Given the description of an element on the screen output the (x, y) to click on. 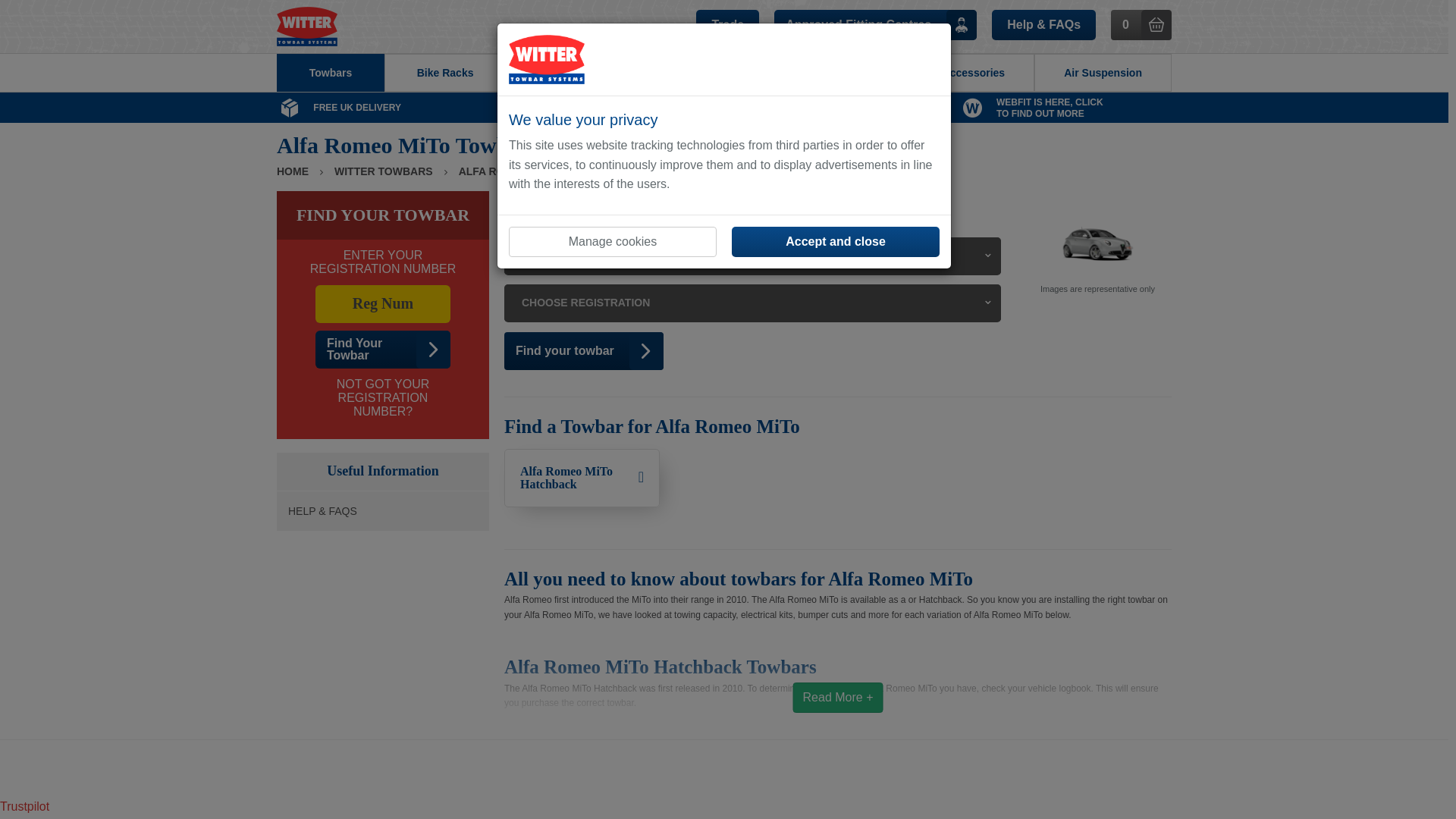
Trustpilot (24, 806)
Bike Racks (330, 72)
NOT GOT YOUR REGISTRATION NUMBER? (581, 477)
Caravan Movers (382, 349)
WITTER TOWBARS (1065, 107)
Approved Fitting Centres (444, 72)
